Given the description of an element on the screen output the (x, y) to click on. 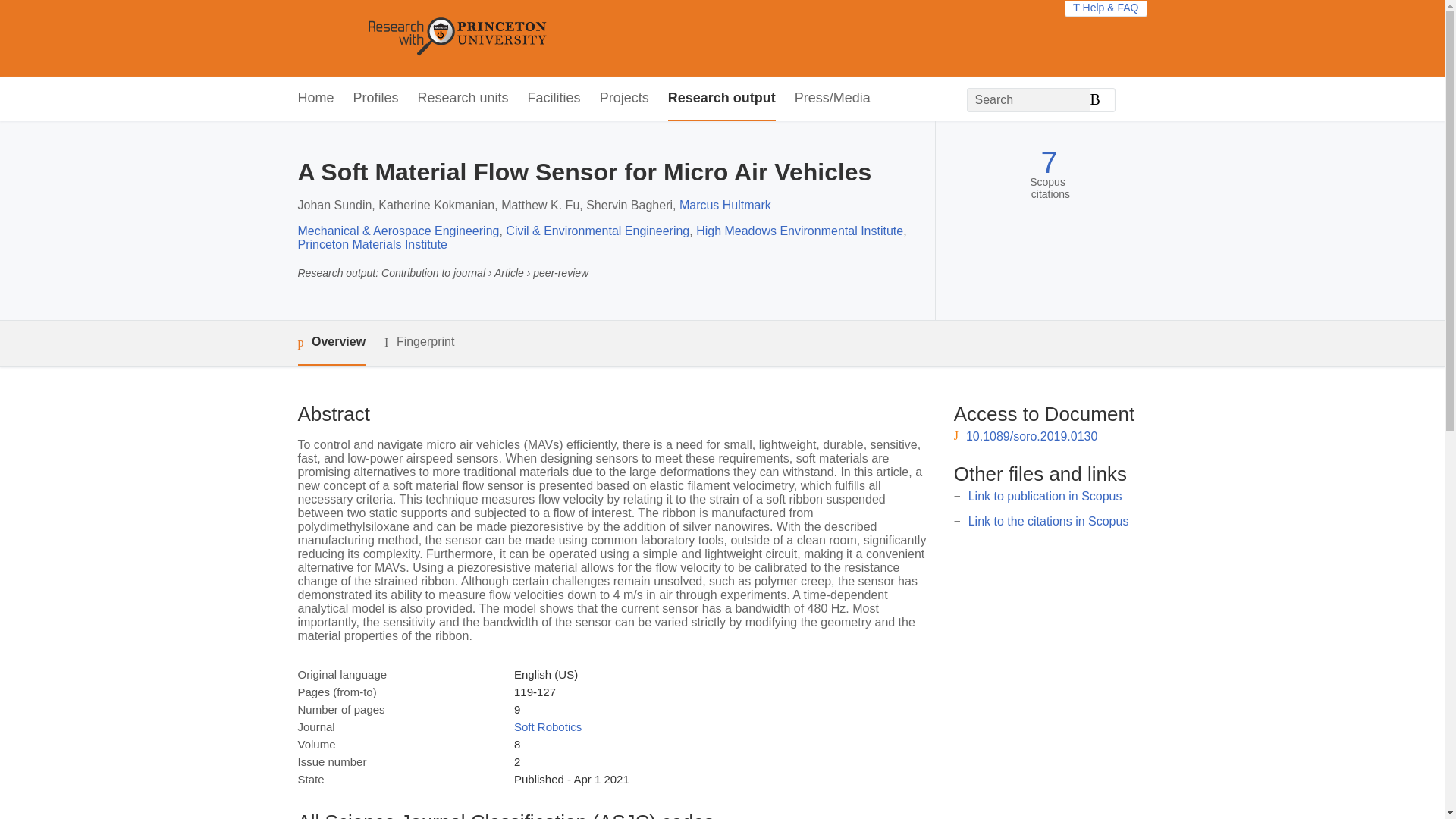
Overview (331, 343)
Soft Robotics (546, 726)
Princeton University Home (567, 38)
Research output (722, 98)
Marcus Hultmark (725, 205)
Link to the citations in Scopus (1048, 521)
Profiles (375, 98)
Fingerprint (419, 342)
Link to publication in Scopus (1045, 495)
